Given the description of an element on the screen output the (x, y) to click on. 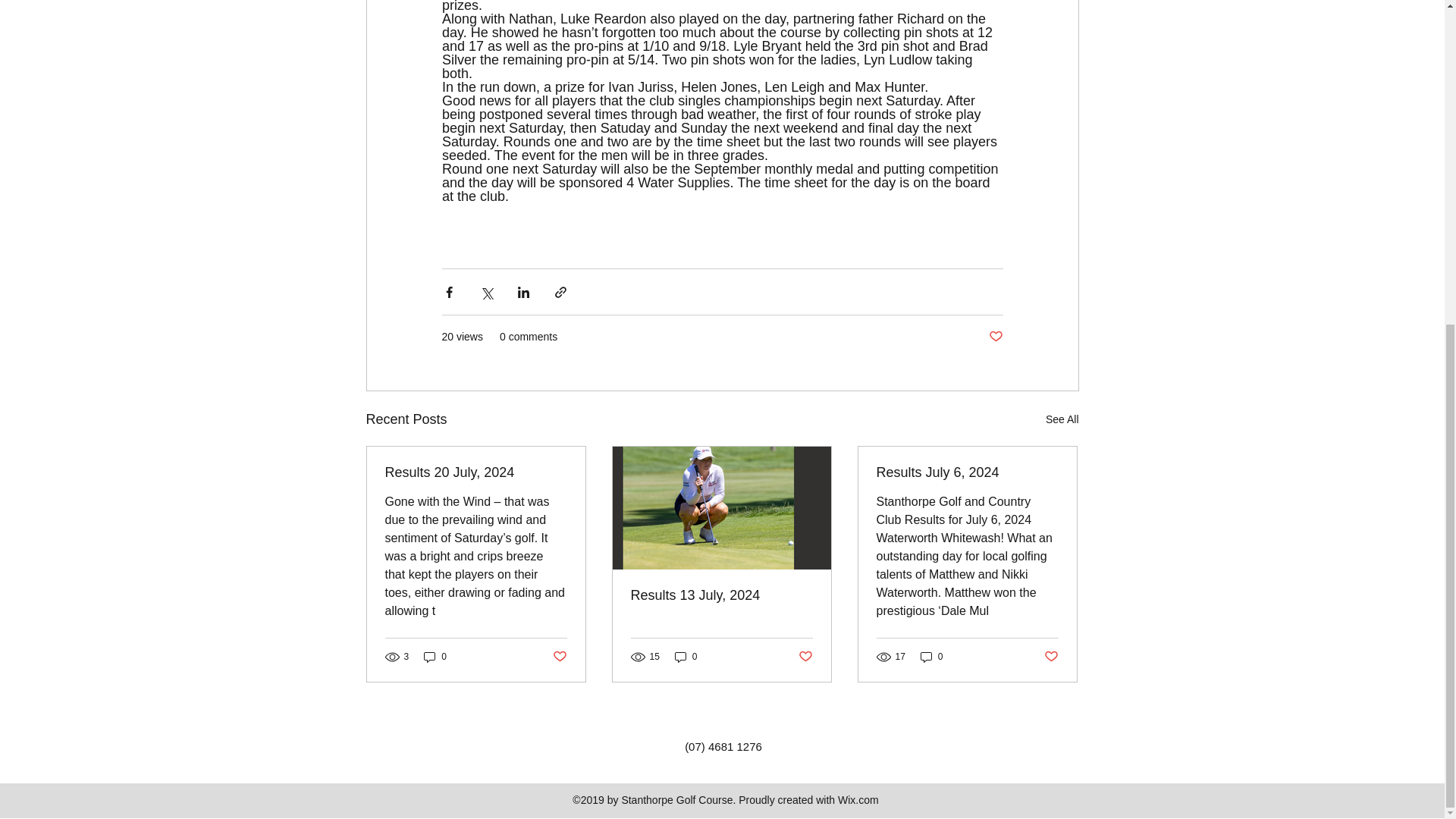
Results July 6, 2024 (967, 472)
Results 13 July, 2024 (721, 595)
0 (685, 657)
Post not marked as liked (558, 656)
0 (435, 657)
0 (931, 657)
Post not marked as liked (1050, 656)
Post not marked as liked (804, 656)
Post not marked as liked (995, 336)
Results 20 July, 2024 (476, 472)
See All (1061, 419)
